Given the description of an element on the screen output the (x, y) to click on. 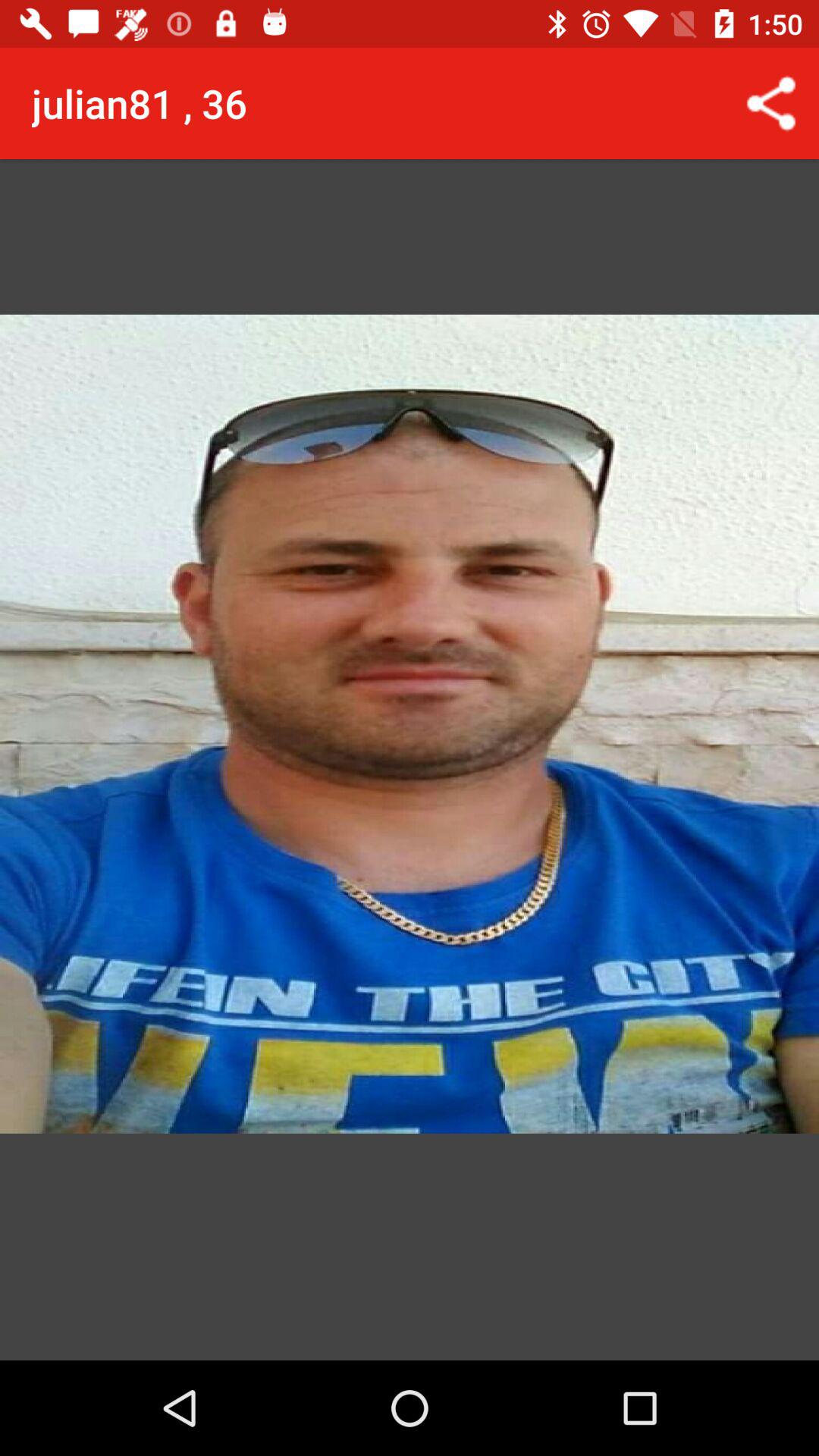
tap the item next to julian81 , 36 item (771, 103)
